Given the description of an element on the screen output the (x, y) to click on. 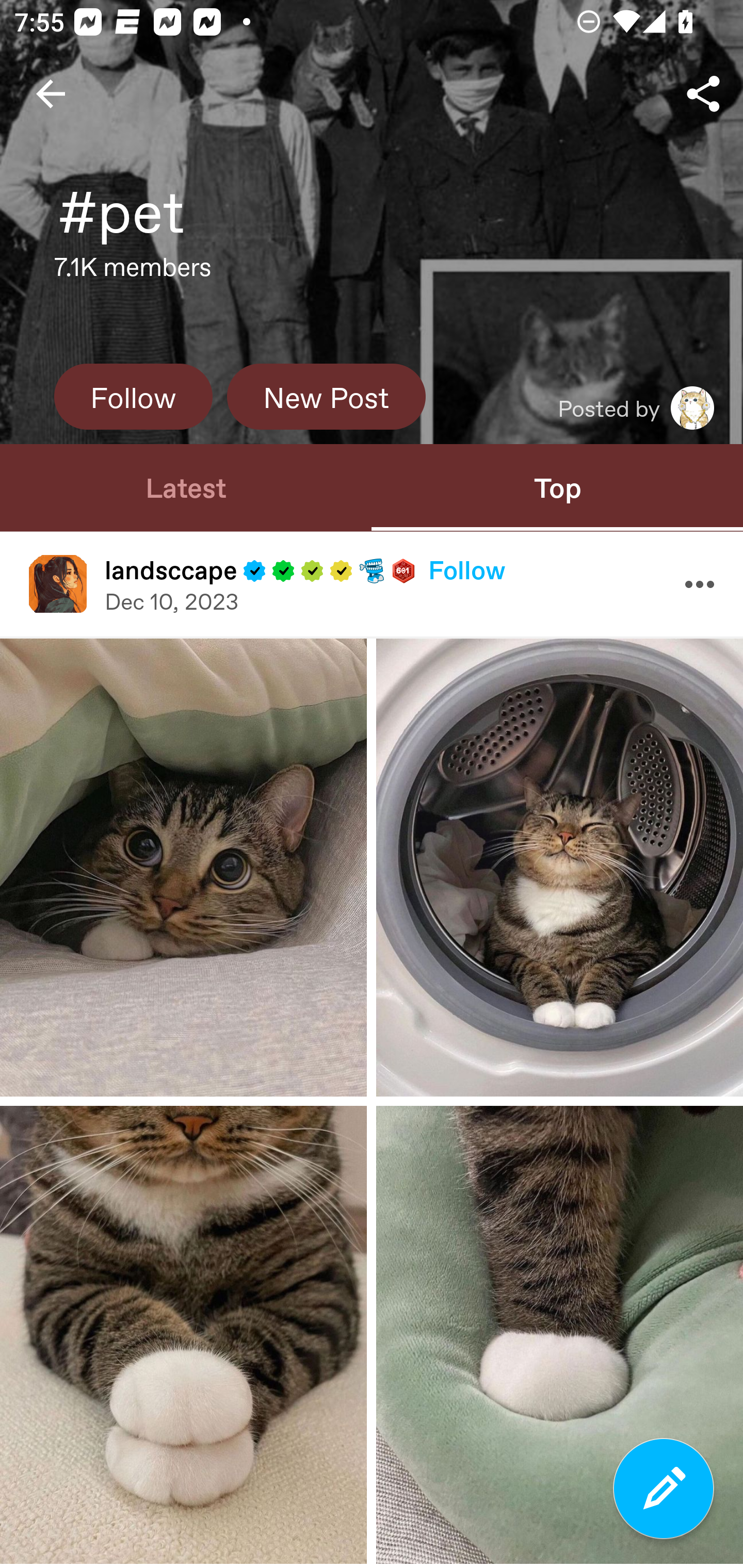
Navigate up (50, 93)
7.1K members (132, 272)
Follow (133, 396)
New Post (326, 396)
Latest (185, 486)
Follow (466, 569)
Compose a new post (663, 1488)
